Given the description of an element on the screen output the (x, y) to click on. 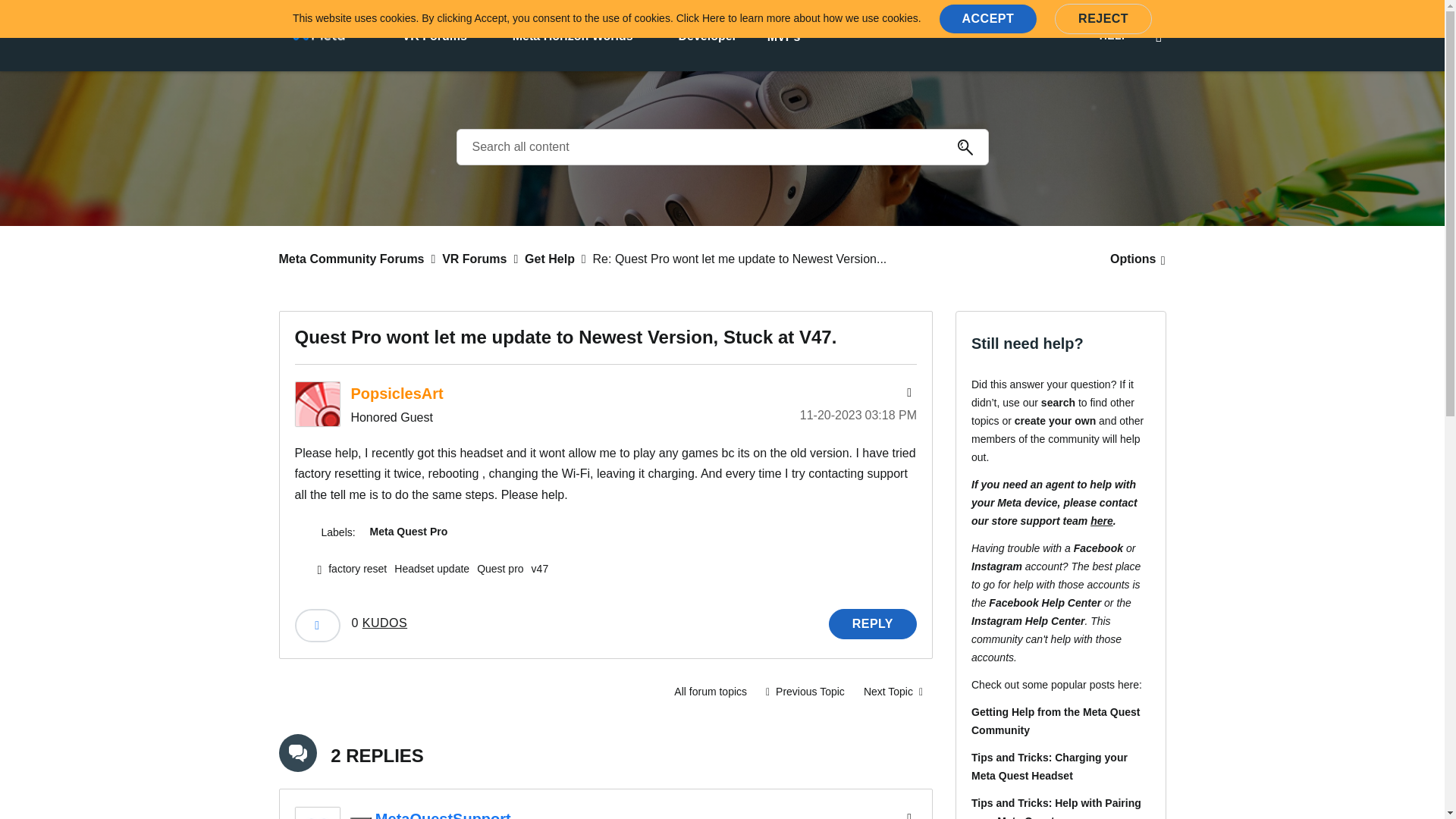
Search (964, 146)
Developer (706, 35)
Show option menu (1133, 259)
Click here to give kudos to this post. (316, 625)
The total number of kudos this post has received. (379, 623)
Meta Horizon Worlds (572, 35)
PopsiclesArt (316, 403)
MVPs (783, 36)
REJECT (1102, 19)
Get Help (710, 691)
